Given the description of an element on the screen output the (x, y) to click on. 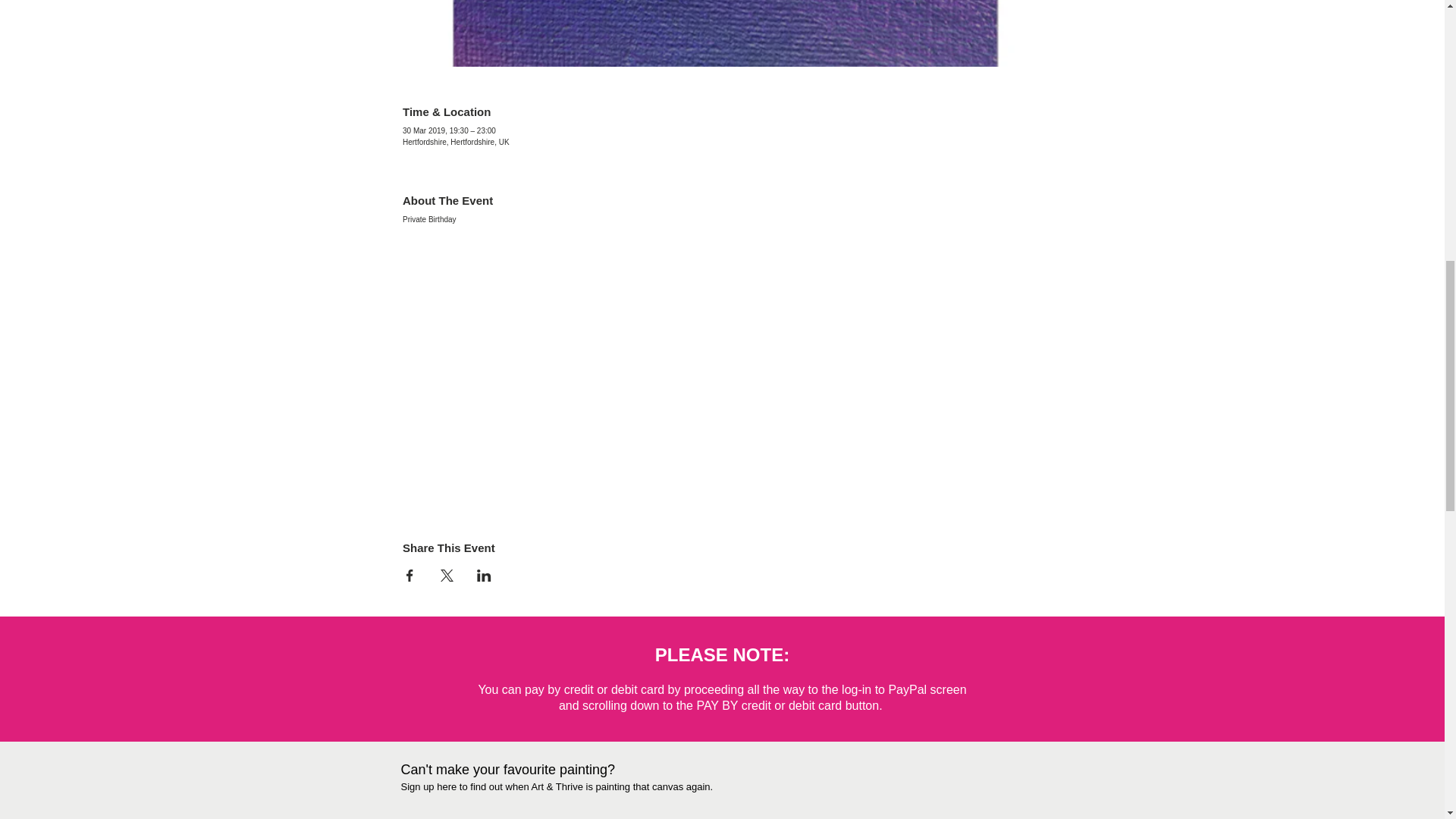
Can't make your favourite painting? (507, 769)
